Given the description of an element on the screen output the (x, y) to click on. 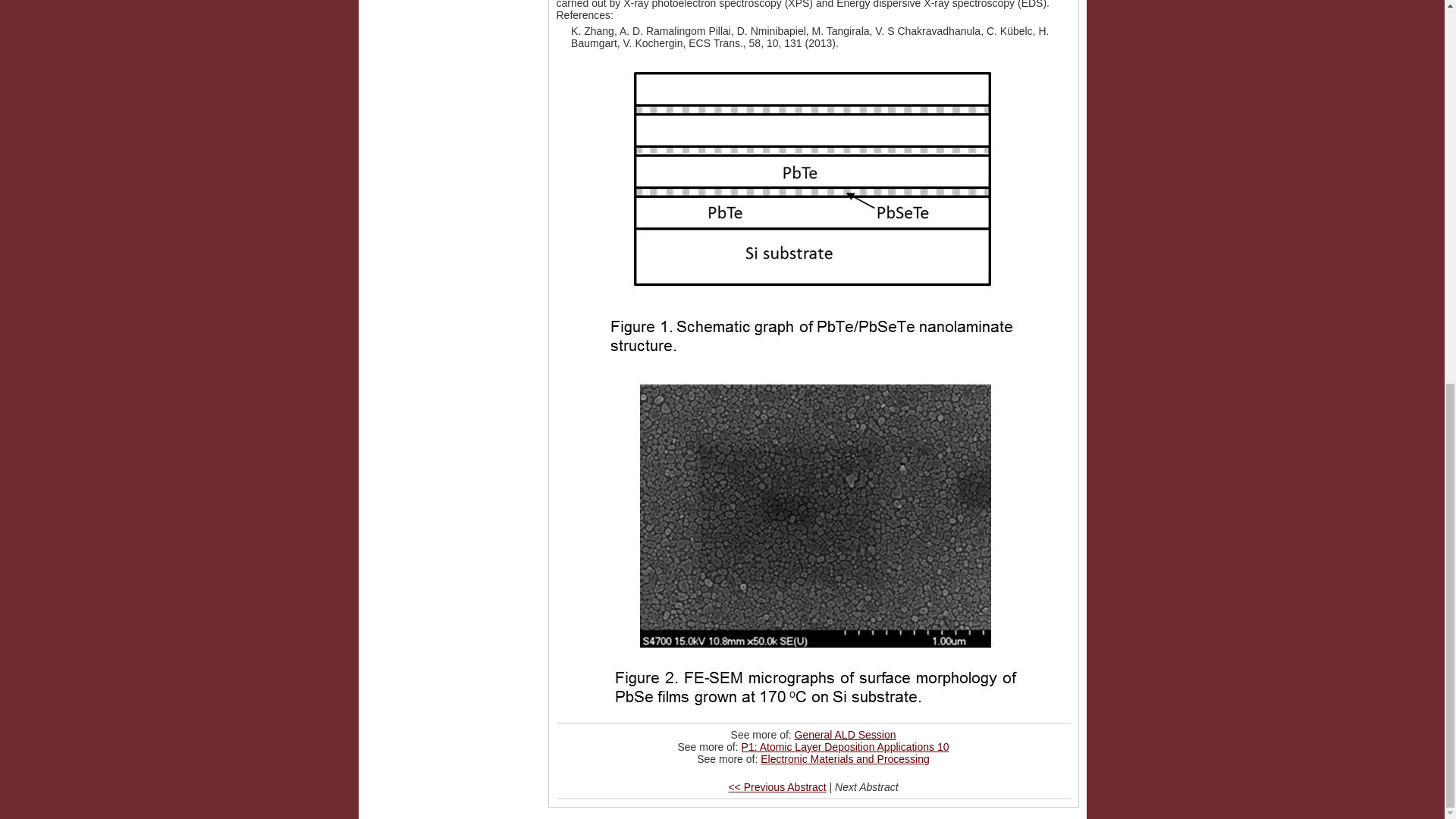
Electronic Materials and Processing (845, 758)
P1: Atomic Layer Deposition Applications 10 (845, 746)
General ALD Session (845, 734)
